Given the description of an element on the screen output the (x, y) to click on. 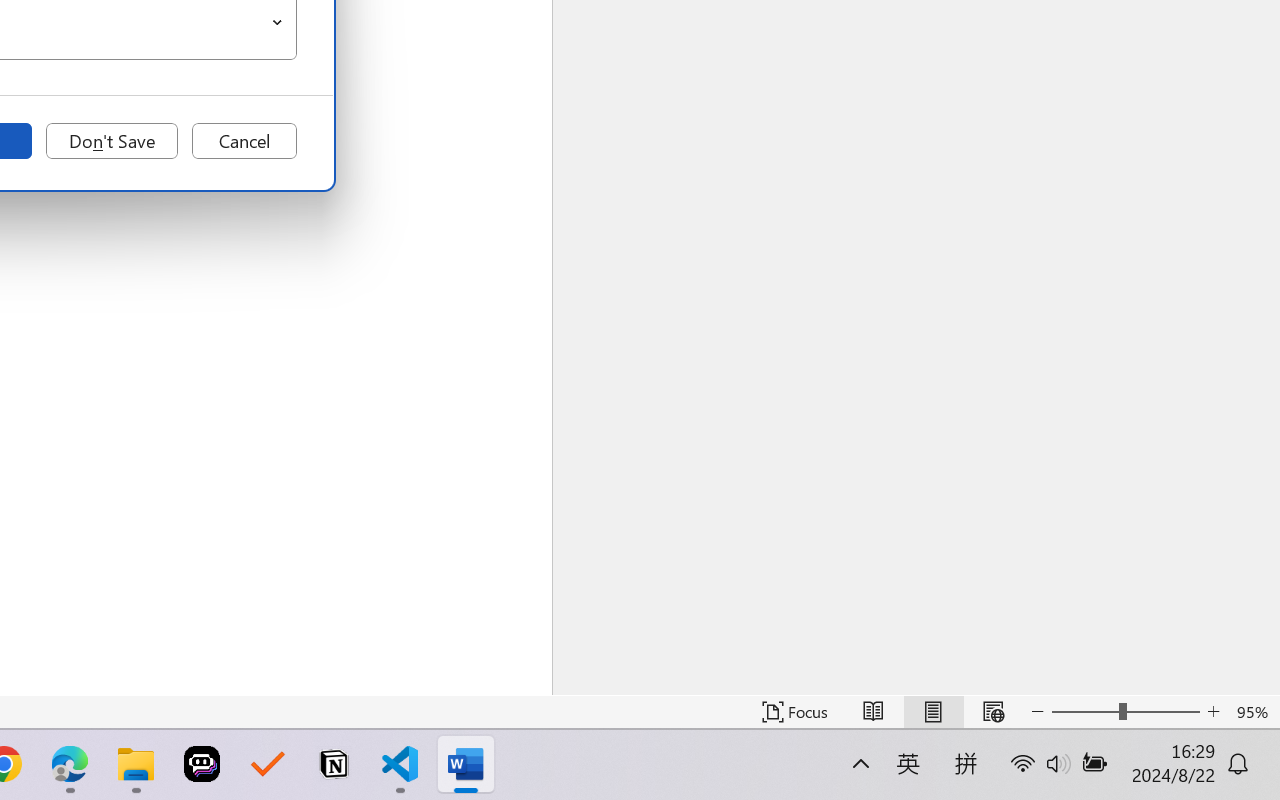
Zoom 95% (1253, 712)
Poe (201, 764)
Cancel (244, 141)
